Given the description of an element on the screen output the (x, y) to click on. 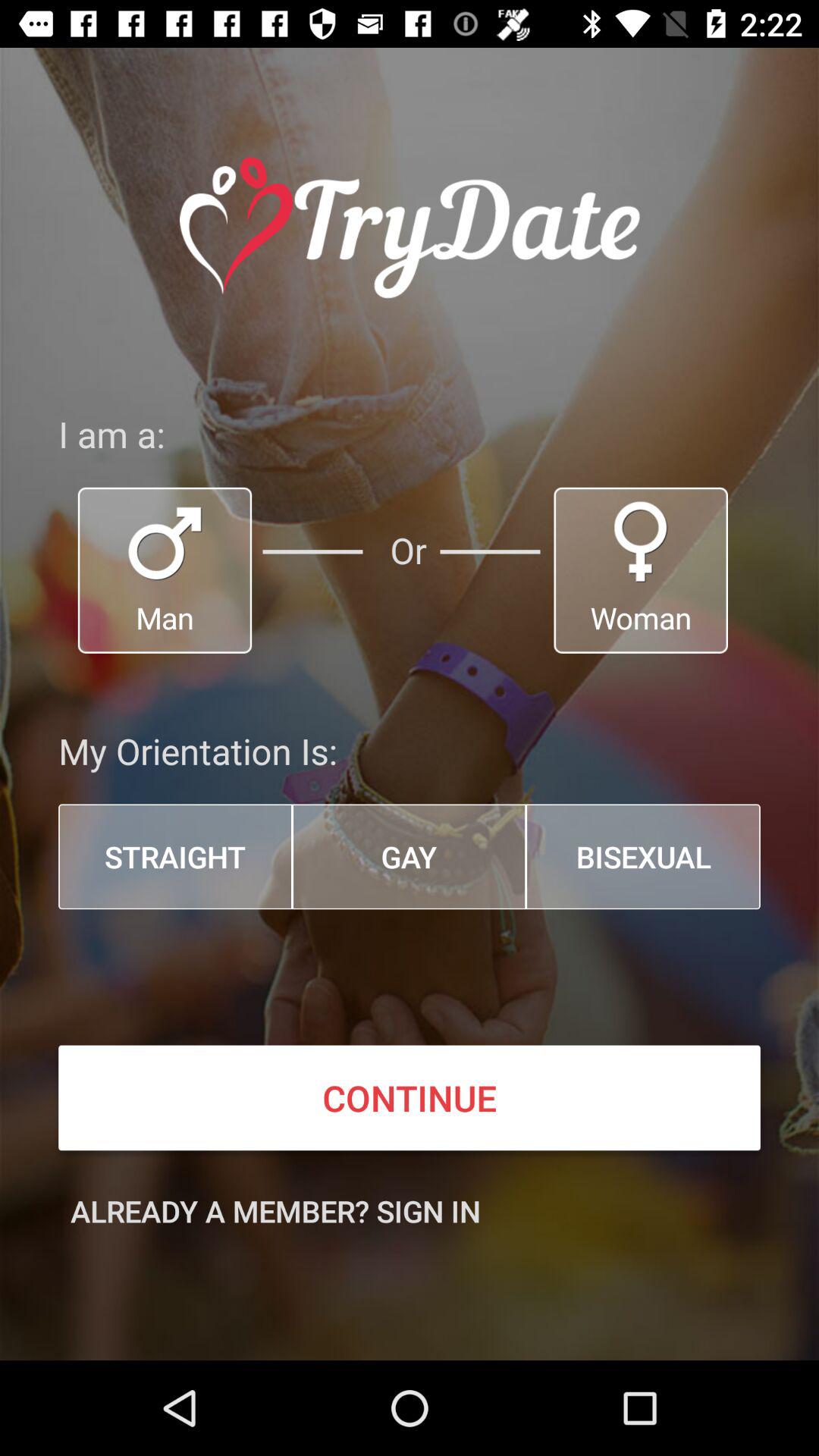
sex button (164, 570)
